Given the description of an element on the screen output the (x, y) to click on. 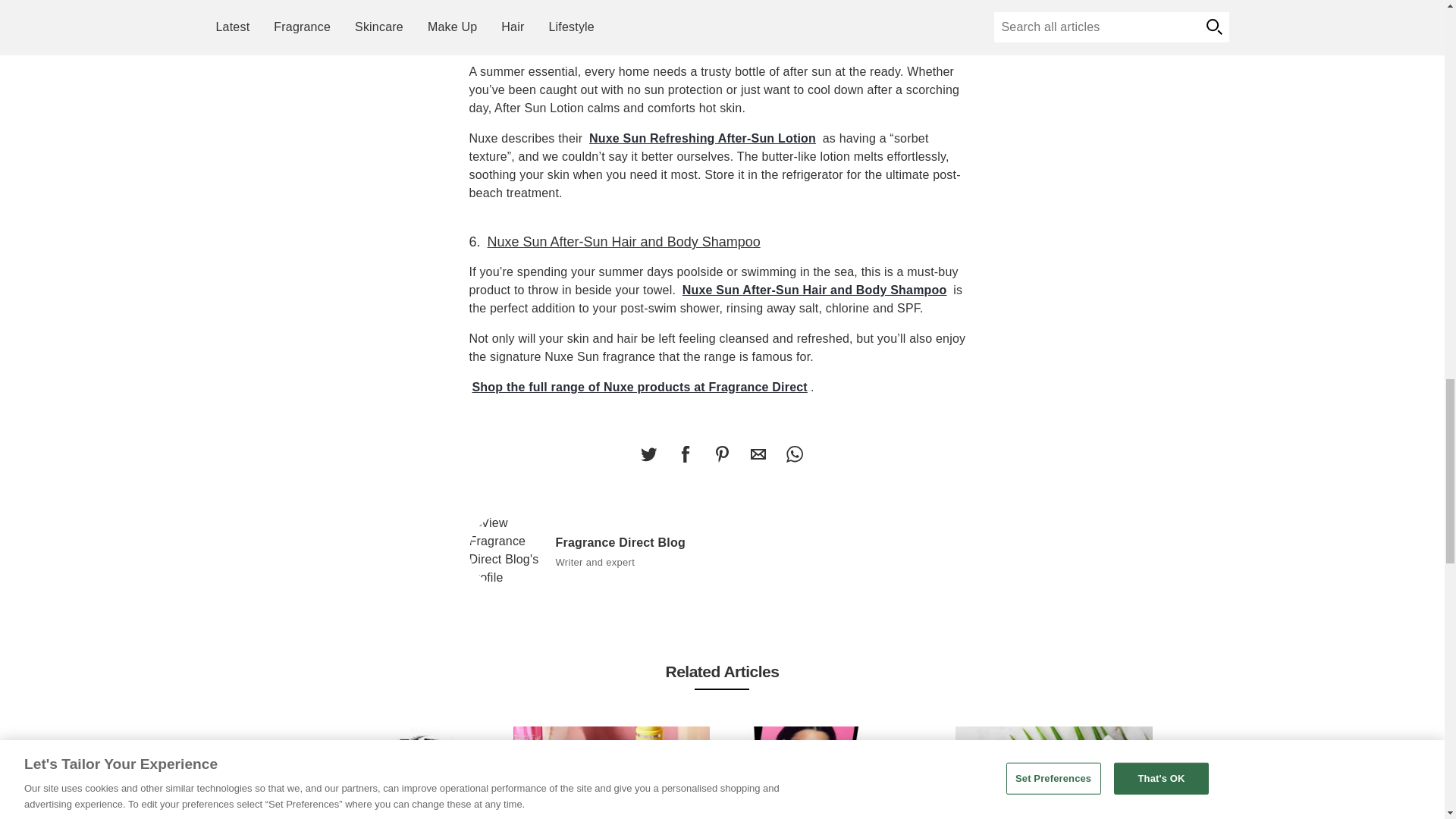
Share this by Email (757, 453)
Share this on Pinterest (721, 453)
Fragrance Direct Blog (505, 550)
Share this on WhatsApp (793, 453)
Share this on Facebook (684, 453)
Share this on Twitter (648, 453)
